Given the description of an element on the screen output the (x, y) to click on. 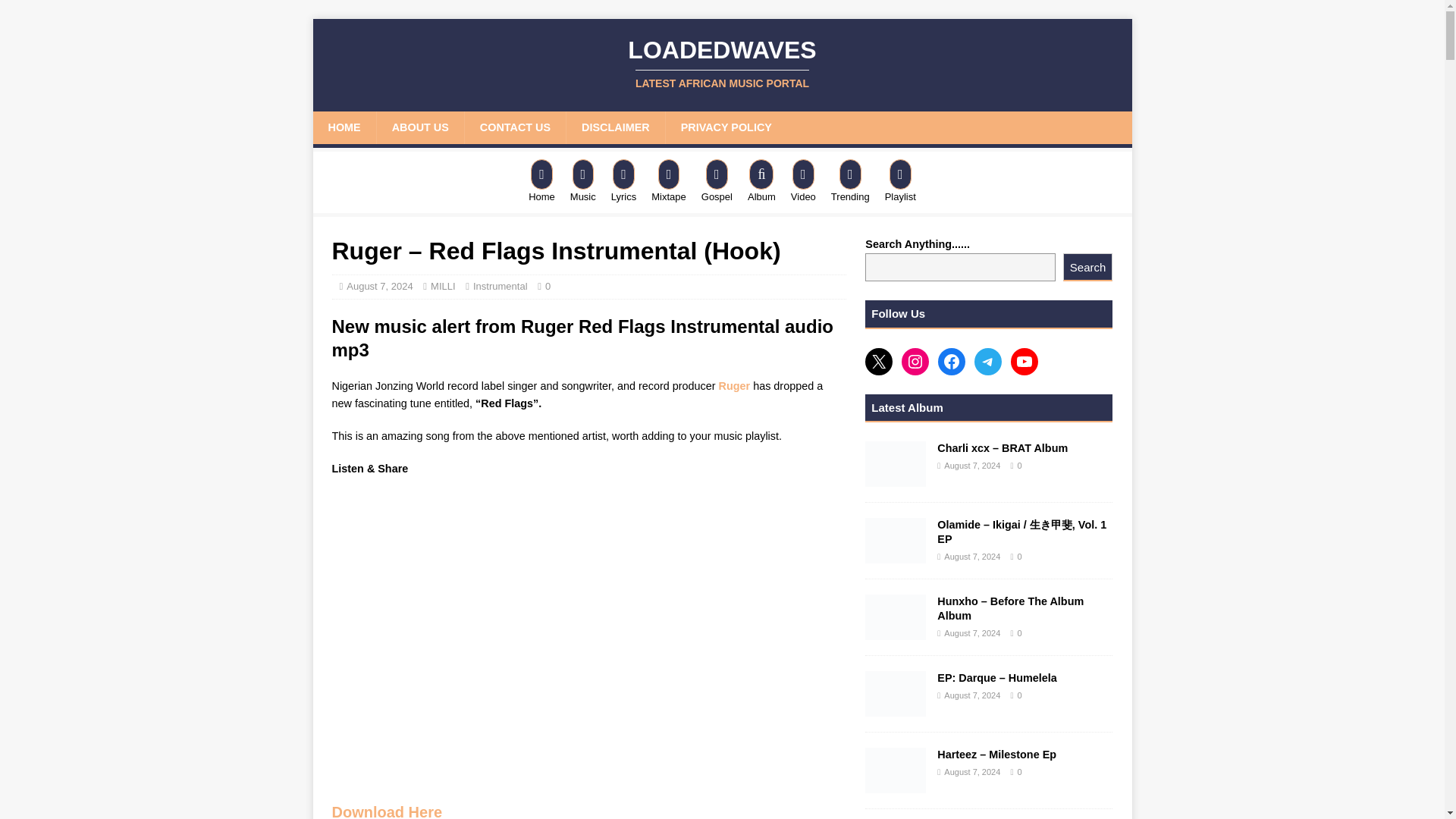
August 7, 2024 (379, 285)
Hunxho - Before The Album Album (895, 616)
Instrumental (500, 285)
CONTACT US (515, 127)
Loadedwaves (721, 63)
DISCLAIMER (615, 127)
MILLI (442, 285)
Charli xcx - BRAT Album (721, 63)
